Given the description of an element on the screen output the (x, y) to click on. 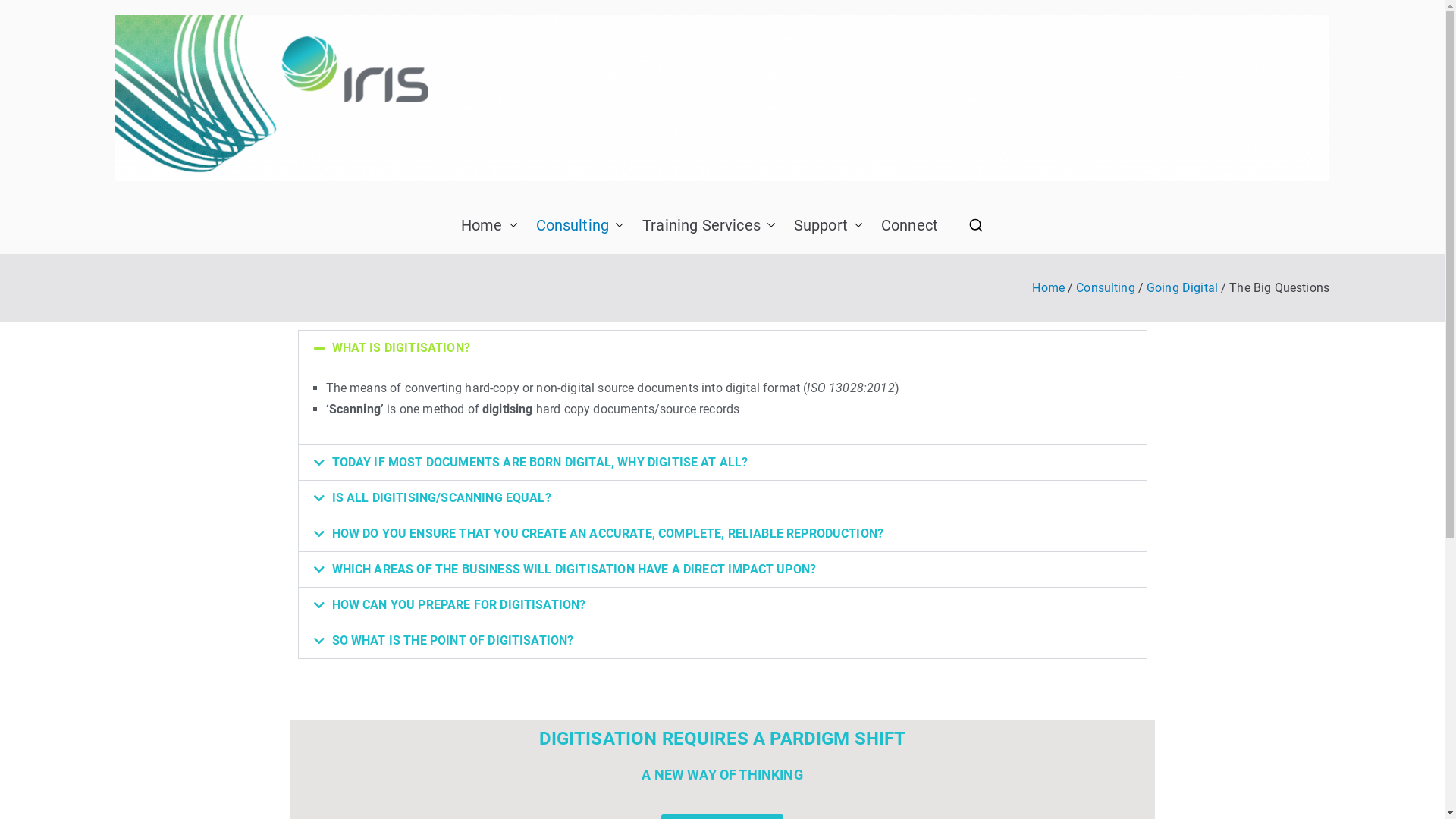
Home Element type: text (489, 224)
Support Element type: text (827, 224)
Iris Consulting Element type: text (822, 215)
Training Services Element type: text (708, 224)
Search Element type: text (26, 13)
Going Digital Element type: text (1181, 287)
Consulting Element type: text (1105, 287)
WHAT IS DIGITISATION? Element type: text (401, 347)
SO WHAT IS THE POINT OF DIGITISATION? Element type: text (453, 640)
Home Element type: text (1048, 287)
Connect Element type: text (909, 224)
Consulting Element type: text (580, 224)
HOW CAN YOU PREPARE FOR DIGITISATION? Element type: text (459, 604)
IS ALL DIGITISING/SCANNING EQUAL? Element type: text (441, 497)
